Given the description of an element on the screen output the (x, y) to click on. 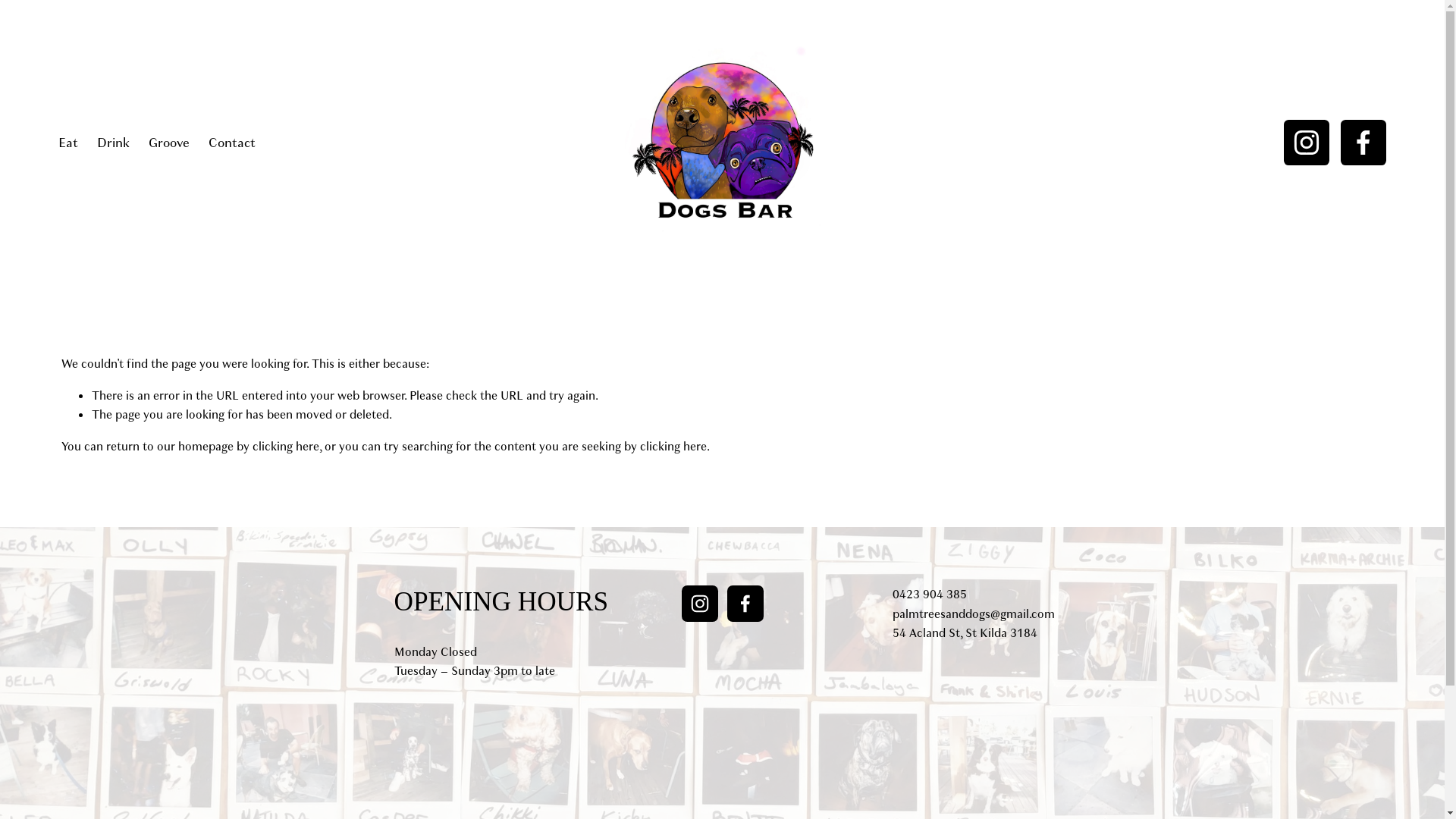
Groove Element type: text (168, 142)
Eat Element type: text (68, 142)
clicking here Element type: text (285, 446)
clicking here Element type: text (673, 446)
Contact Element type: text (231, 142)
Drink Element type: text (113, 142)
